Given the description of an element on the screen output the (x, y) to click on. 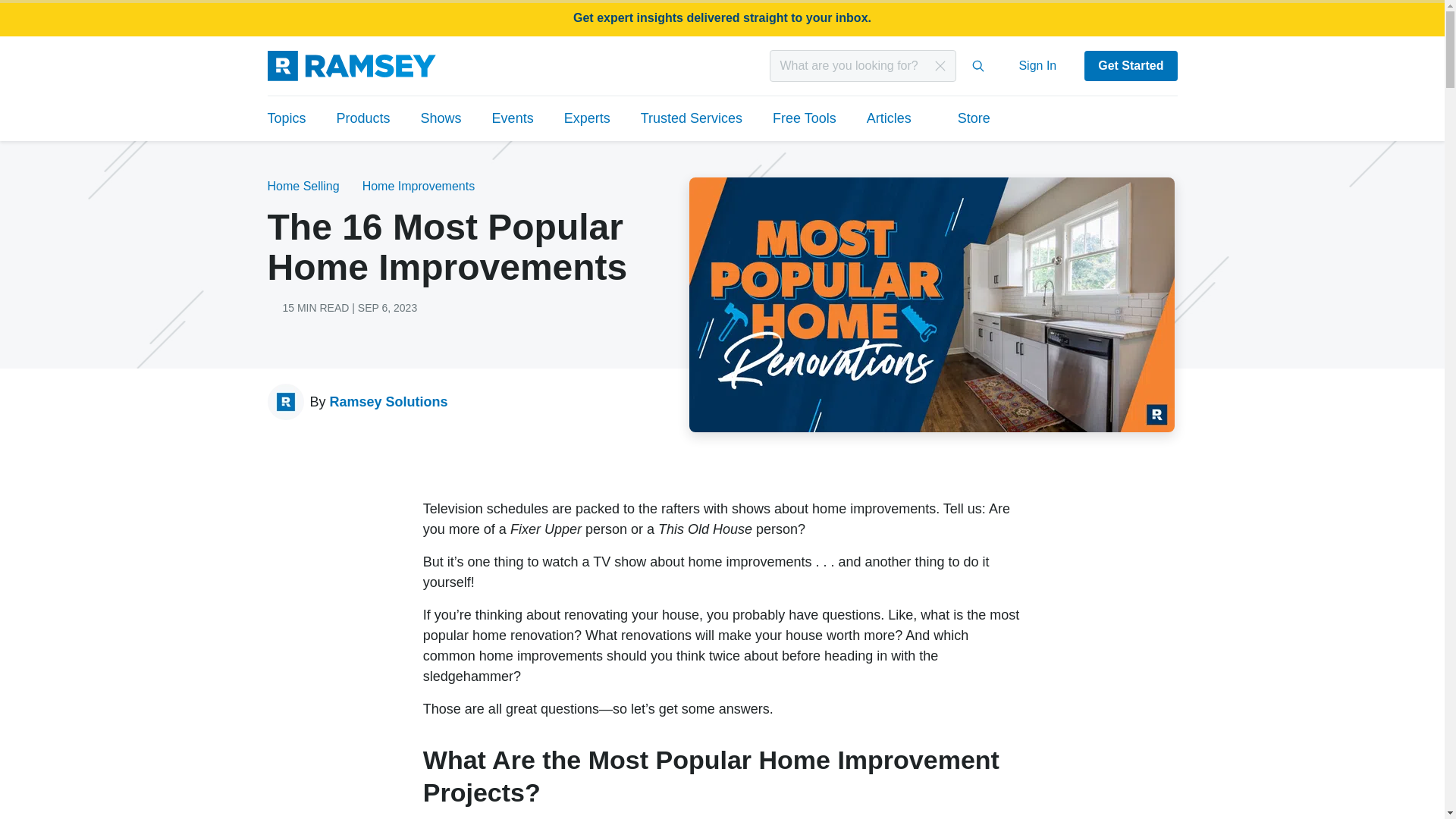
Search (978, 65)
Topics (293, 118)
Sign In (1037, 65)
Get expert insights delivered straight to your inbox. (721, 17)
Products (363, 118)
Get Started (1130, 65)
